Given the description of an element on the screen output the (x, y) to click on. 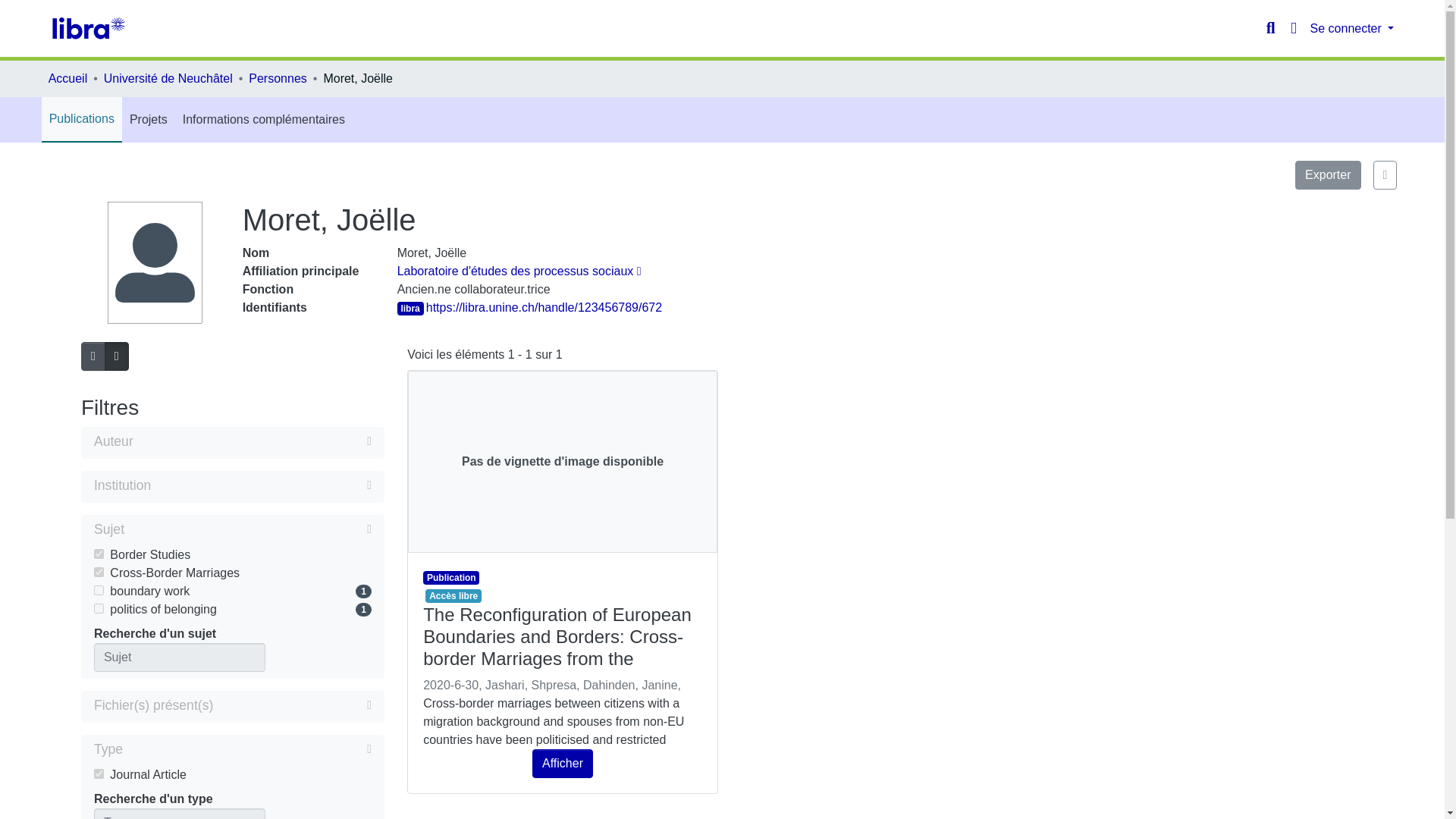
Publications (82, 118)
on (98, 590)
Filtre (247, 529)
Projets (148, 119)
Sujet (232, 530)
Projets (148, 119)
Accueil (67, 78)
Se connecter (1352, 28)
on (98, 608)
Exporter (1327, 174)
on (98, 572)
Rechercher (1270, 28)
Filtre (246, 749)
Auteur (232, 443)
Publications (82, 118)
